Given the description of an element on the screen output the (x, y) to click on. 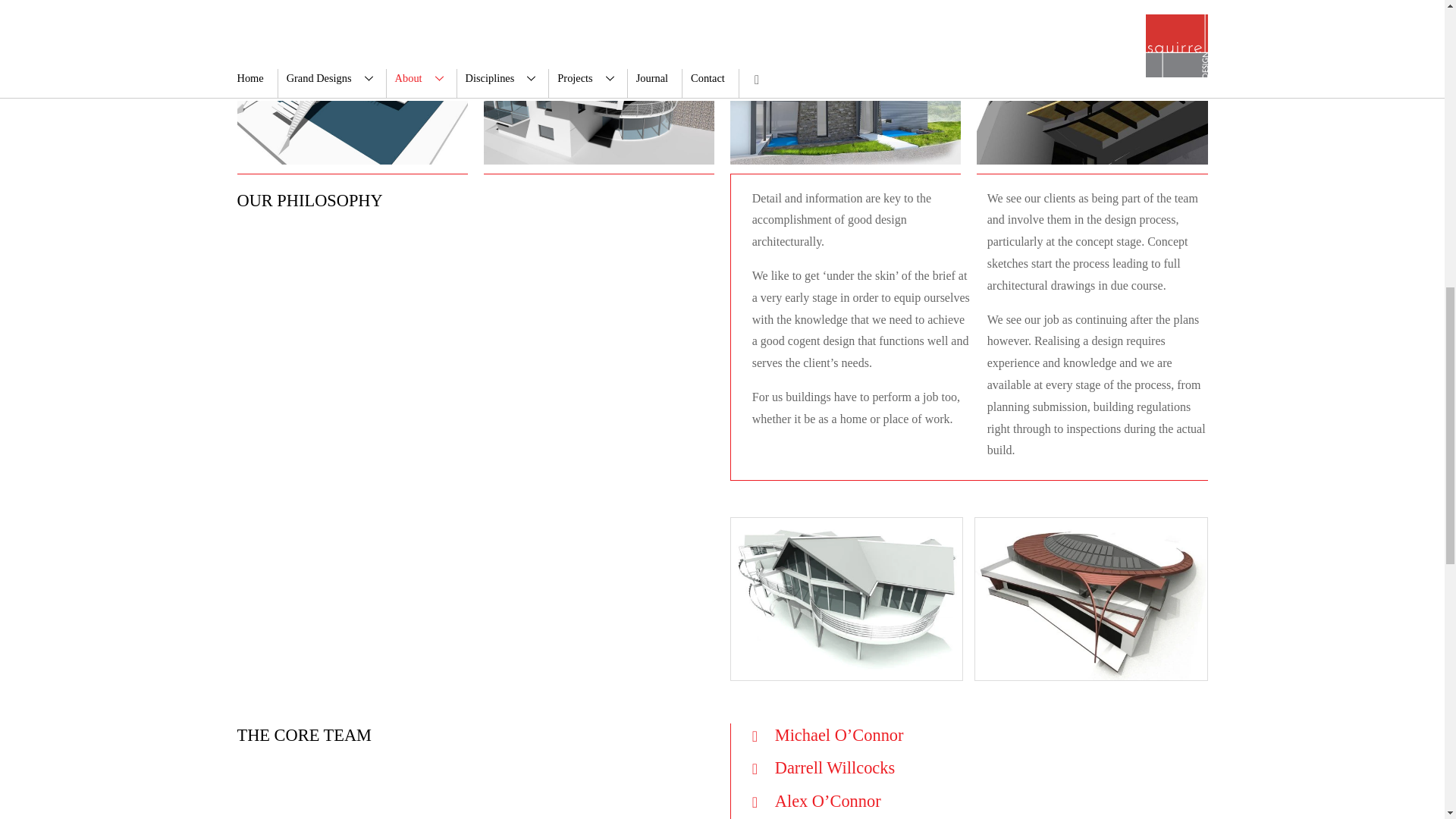
Proposed project south eastern view. (1090, 668)
Entrance Atrium (845, 86)
3d Visual Architects Devon (1092, 86)
Paragraph 55 Building (1090, 598)
Modern Architecture In Devon (598, 86)
Amazing Architecture In Devon (351, 86)
Sea View Render 1 (846, 598)
